Given the description of an element on the screen output the (x, y) to click on. 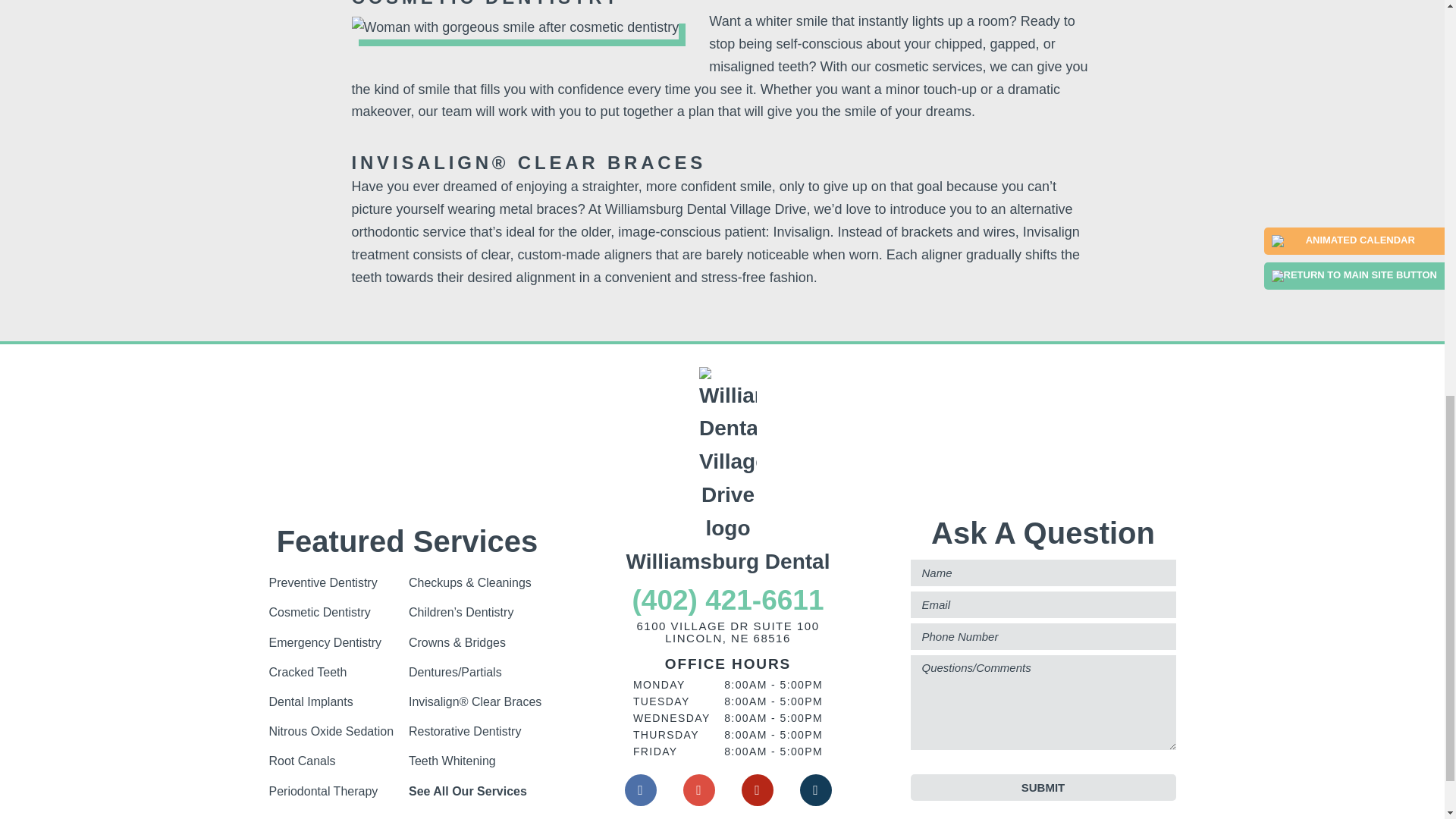
Williamsburg Dental (727, 472)
Submit (1042, 786)
